Given the description of an element on the screen output the (x, y) to click on. 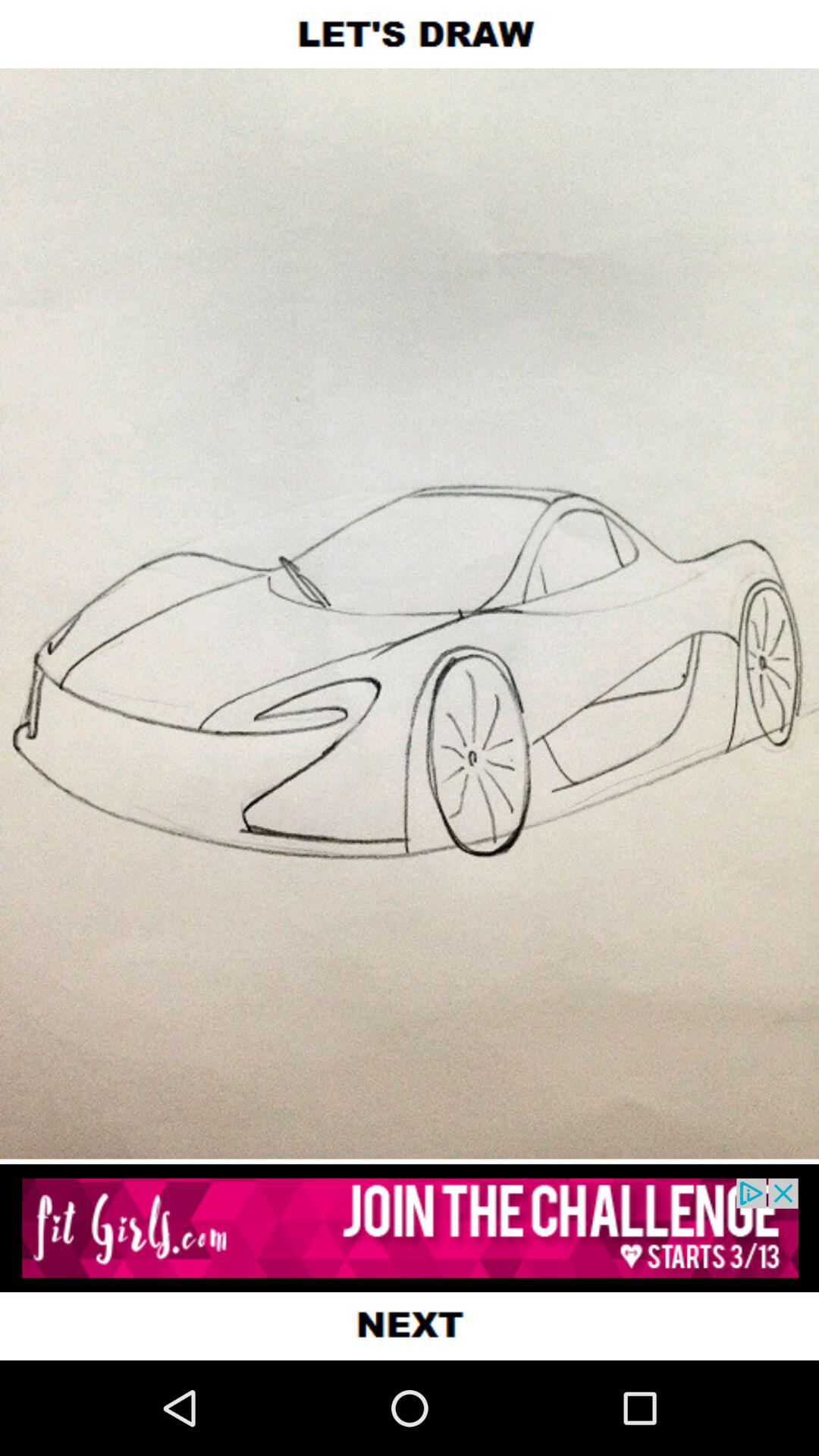
go to next (409, 1326)
